Given the description of an element on the screen output the (x, y) to click on. 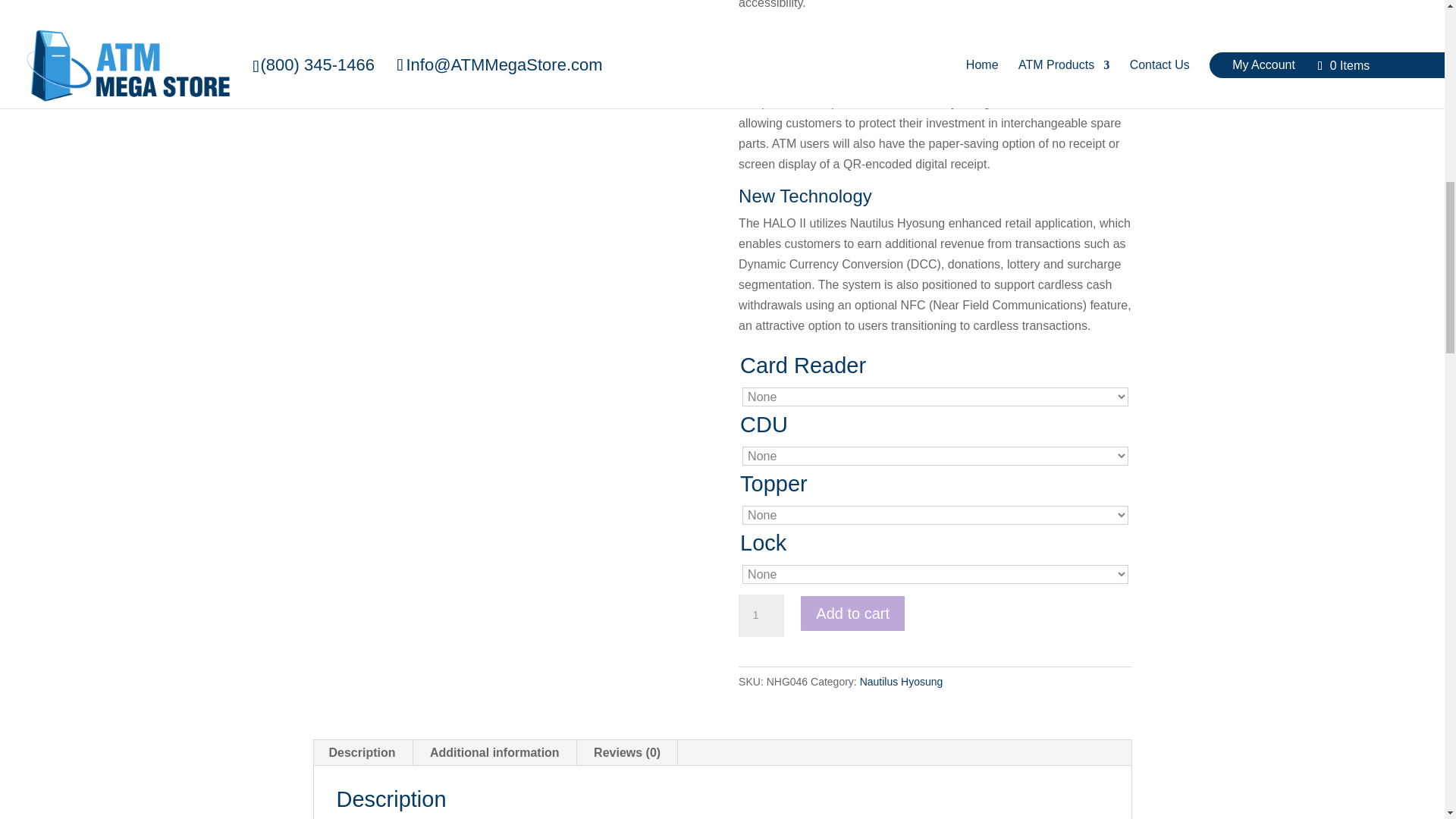
1 (761, 615)
Add to cart (852, 613)
Additional information (494, 752)
Description (362, 752)
Nautilus Hyosung (901, 681)
